Given the description of an element on the screen output the (x, y) to click on. 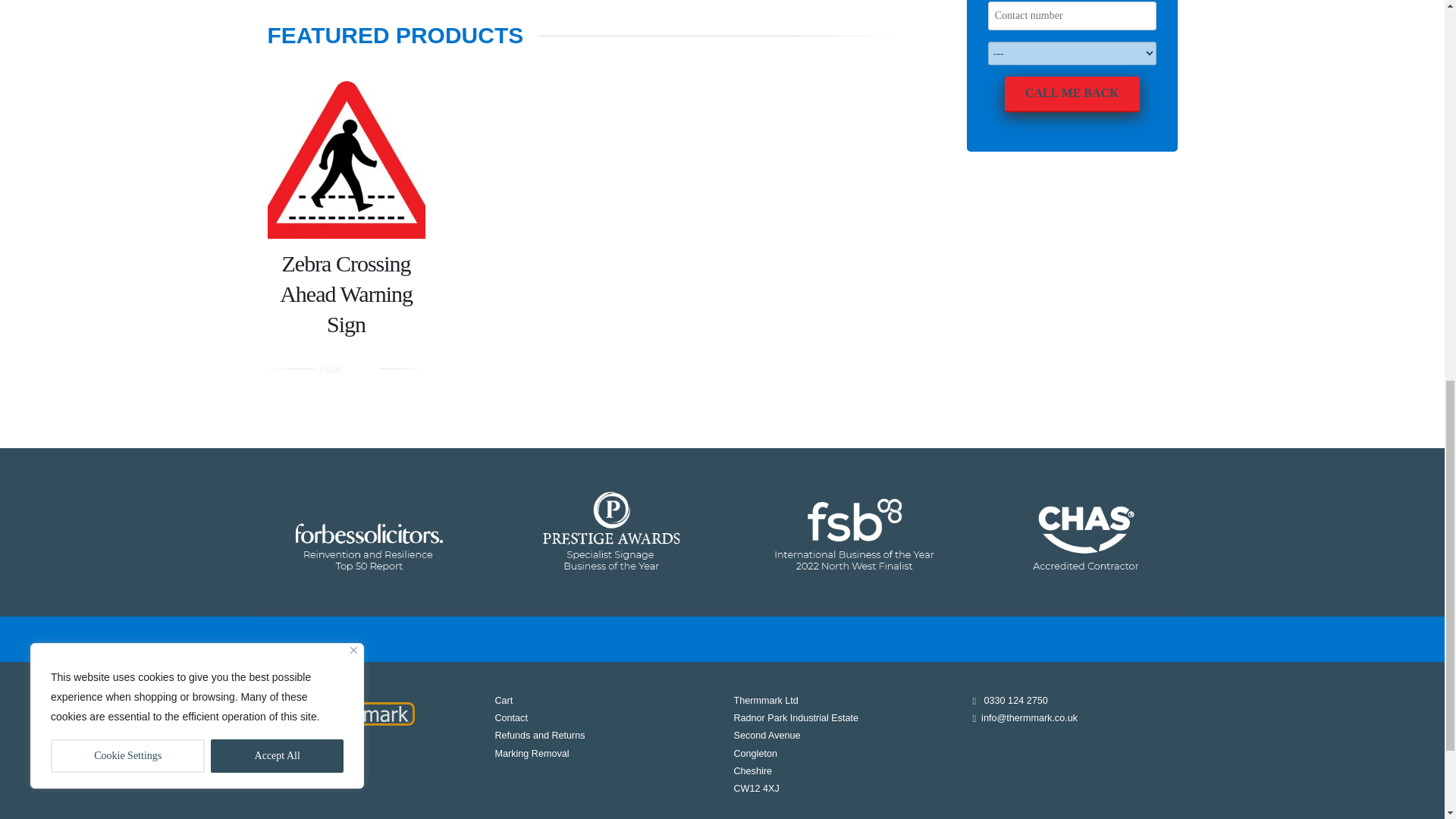
Call me back (1072, 94)
